Given the description of an element on the screen output the (x, y) to click on. 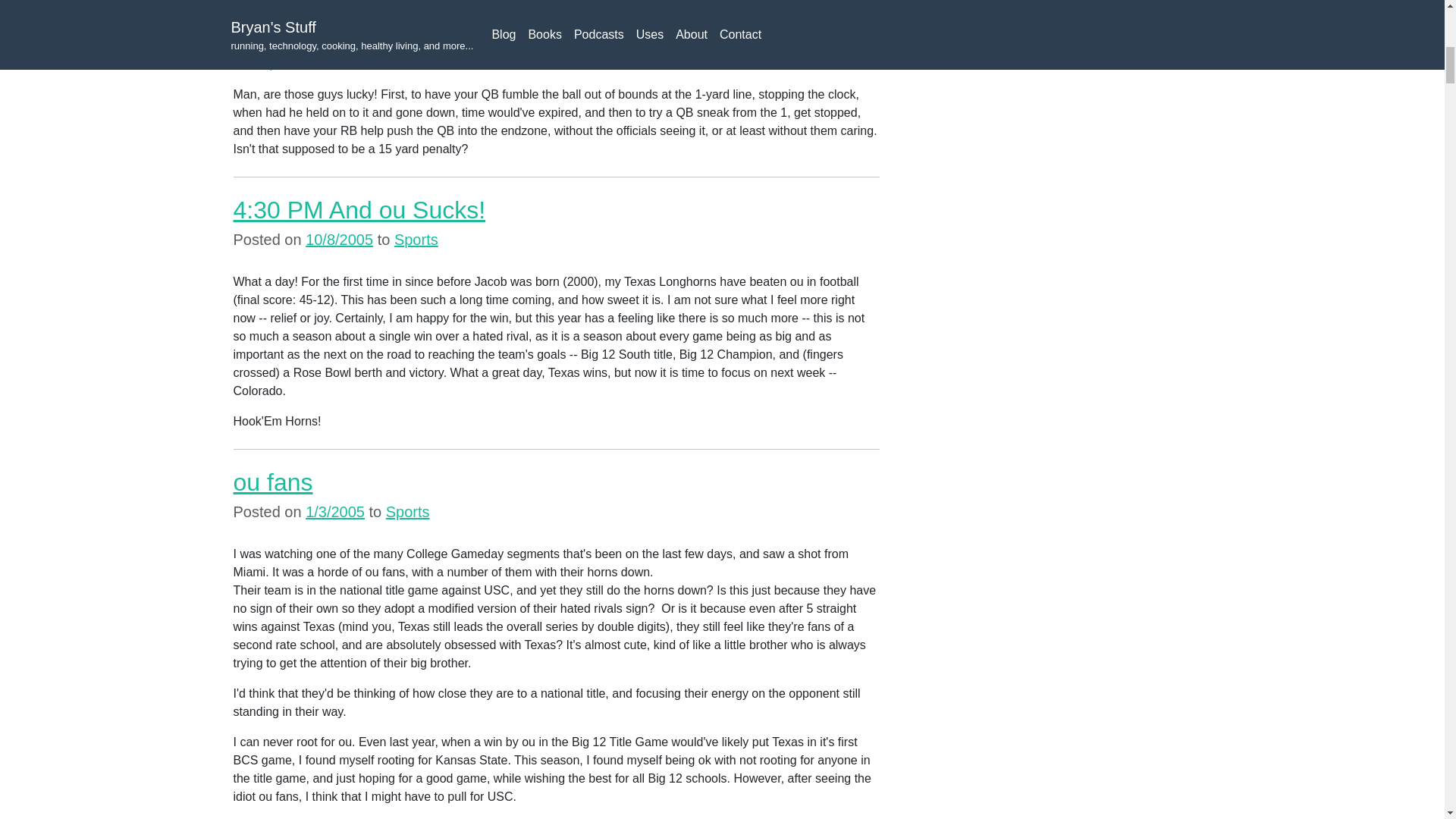
4:30 PM And ou Sucks! (359, 209)
CBS Sportsline.com Article (305, 63)
Sports (407, 511)
ou fans (272, 482)
Sports (416, 239)
